Given the description of an element on the screen output the (x, y) to click on. 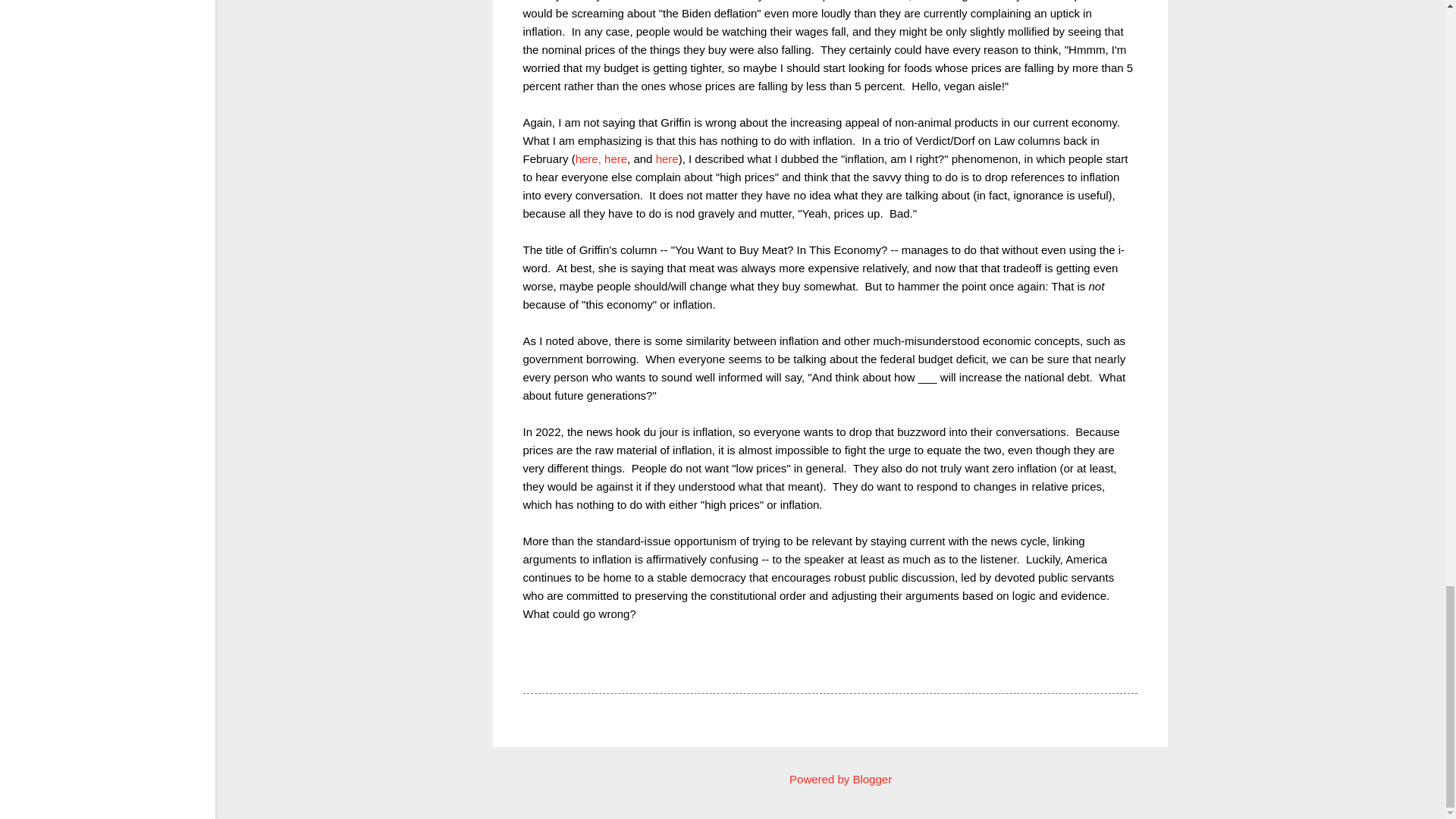
here (667, 157)
here (615, 157)
Email Post (562, 666)
here, (588, 157)
Powered by Blogger (829, 779)
